Given the description of an element on the screen output the (x, y) to click on. 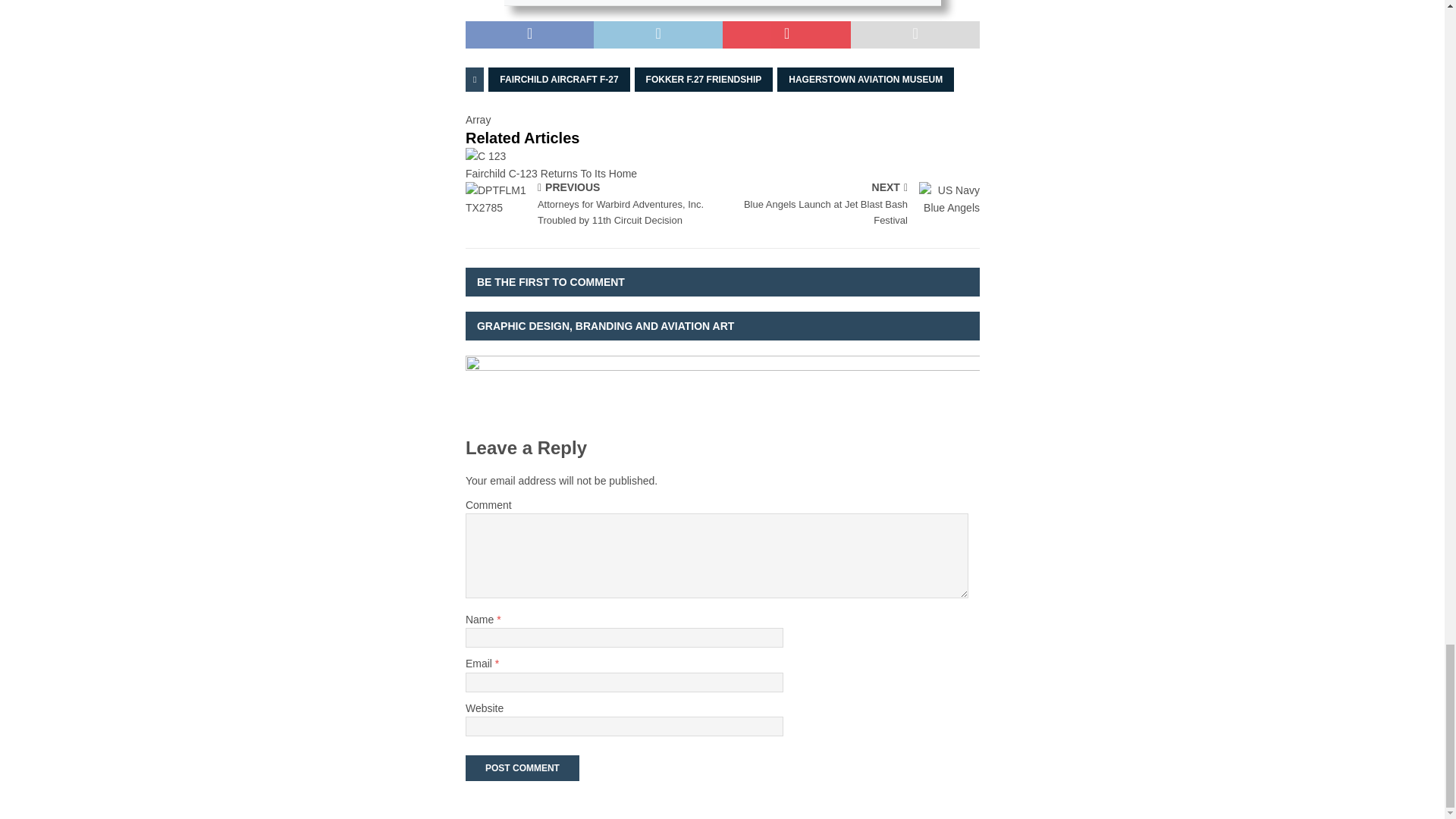
Post Comment (522, 768)
